Given the description of an element on the screen output the (x, y) to click on. 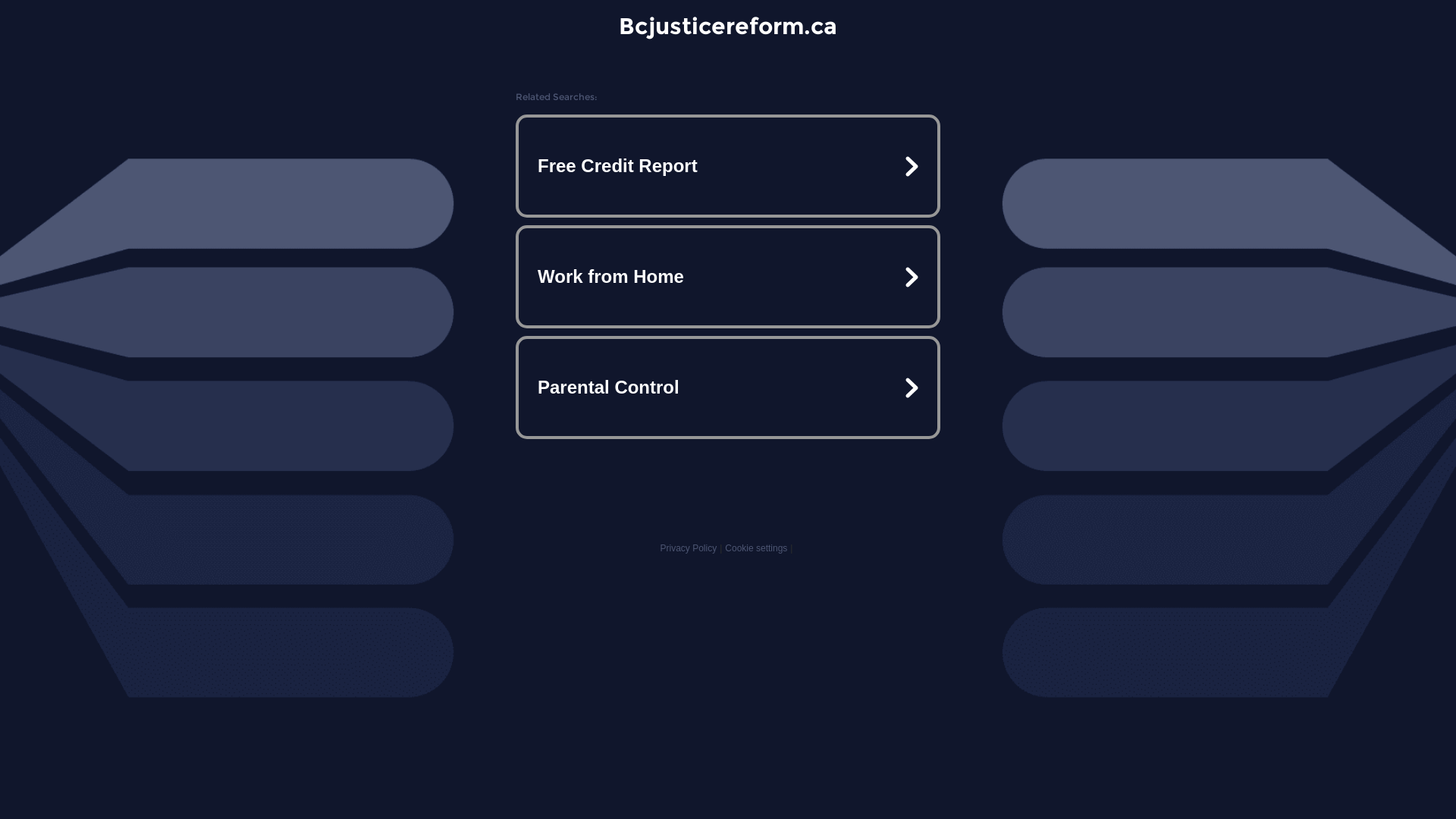
Bcjusticereform.ca Element type: text (727, 26)
Privacy Policy Element type: text (687, 547)
Parental Control Element type: text (727, 387)
Cookie settings Element type: text (755, 547)
Work from Home Element type: text (727, 276)
Free Credit Report Element type: text (727, 165)
